Given the description of an element on the screen output the (x, y) to click on. 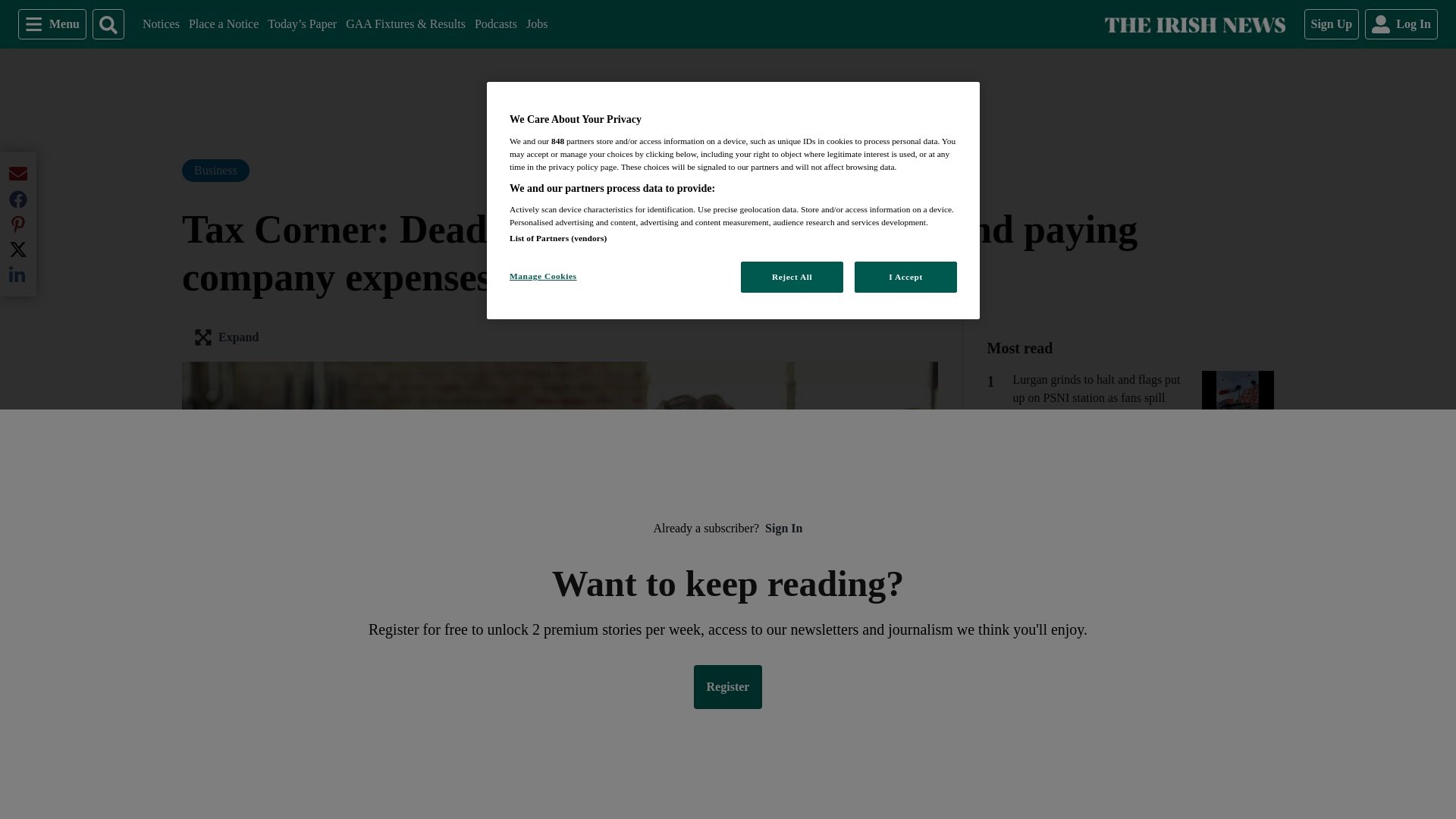
The Irish News (536, 24)
Menu (1194, 23)
Podcasts (51, 24)
Sign Up (160, 24)
Log In (495, 24)
